Given the description of an element on the screen output the (x, y) to click on. 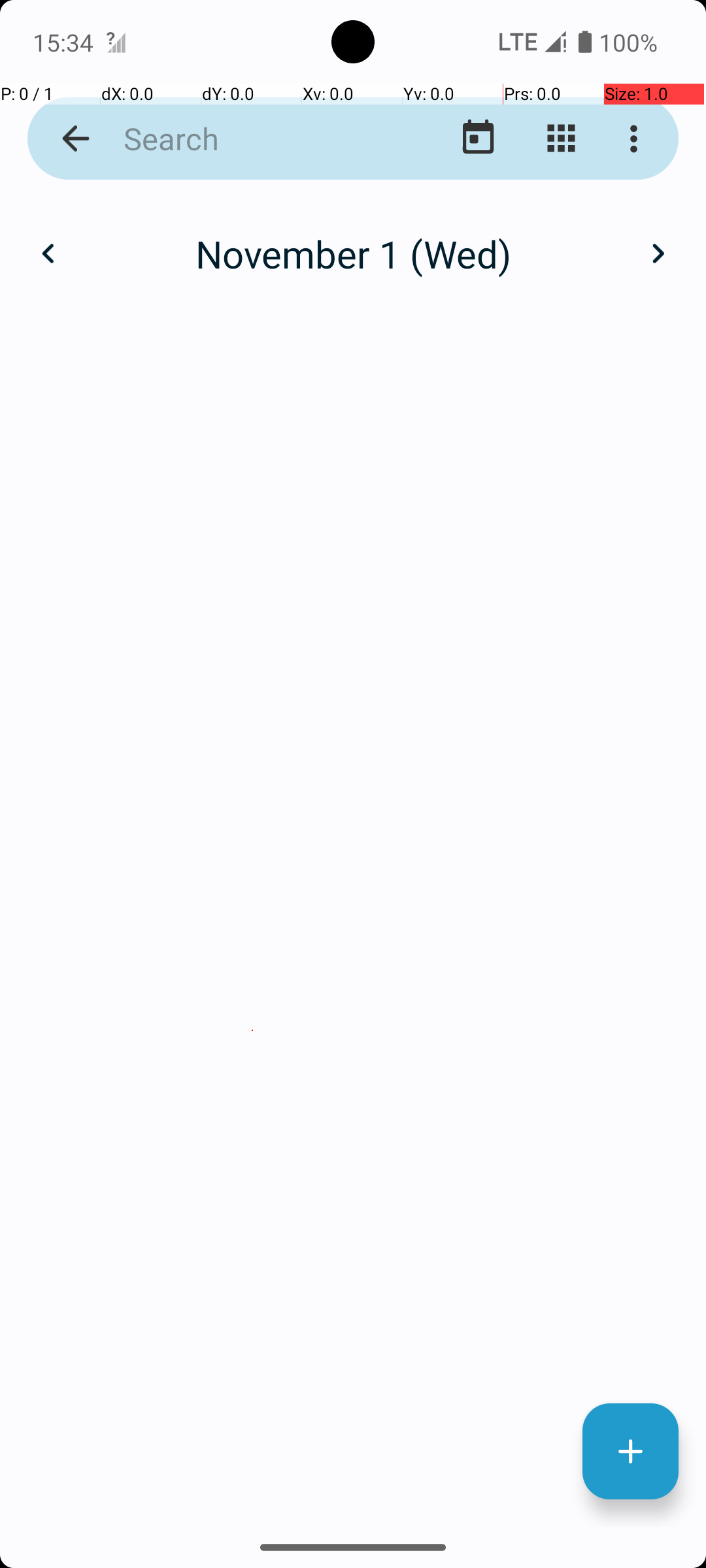
November 1 (Wed) Element type: android.widget.TextView (352, 253)
